Given the description of an element on the screen output the (x, y) to click on. 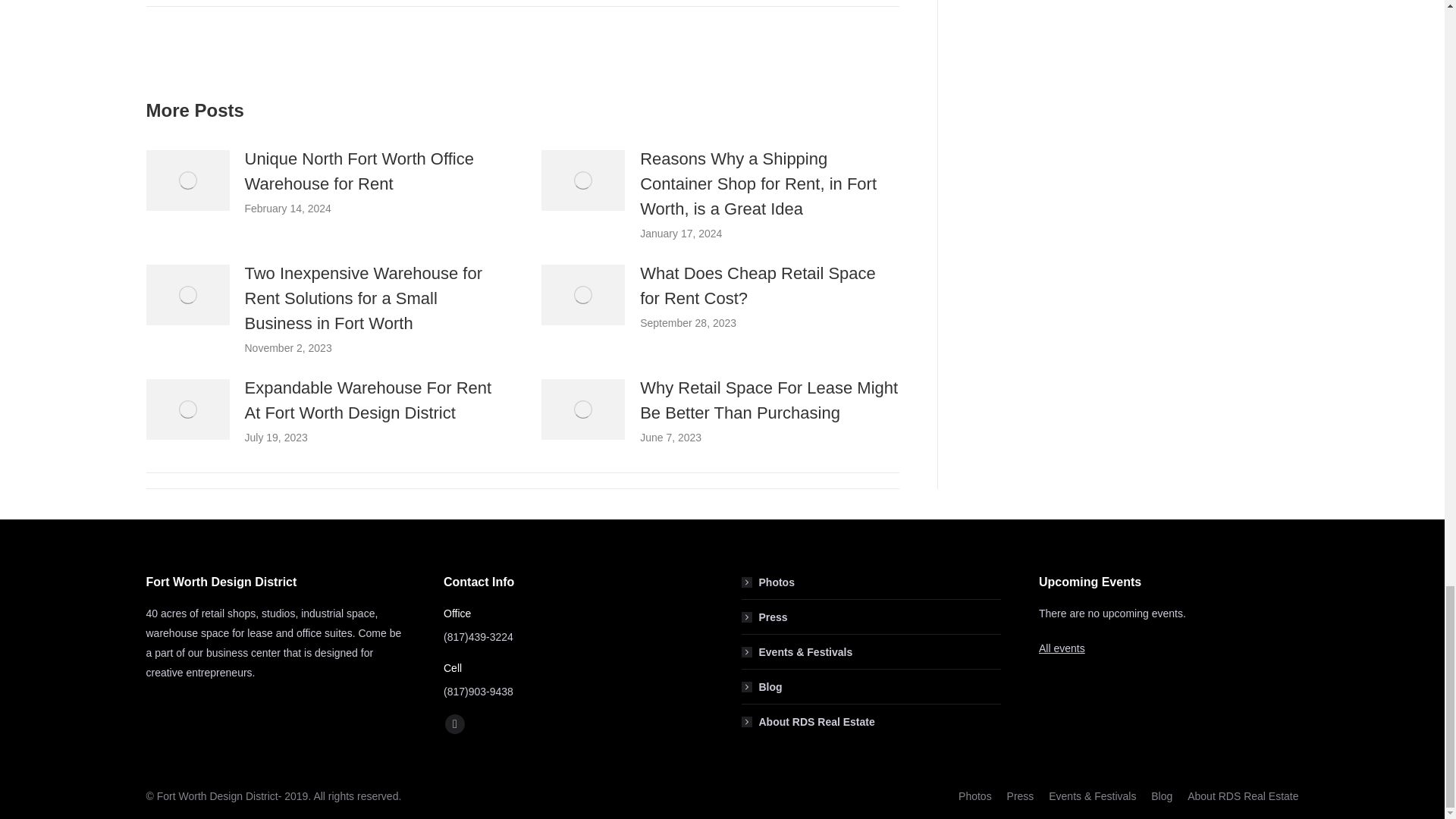
Facebook page opens in new window (454, 723)
